Given the description of an element on the screen output the (x, y) to click on. 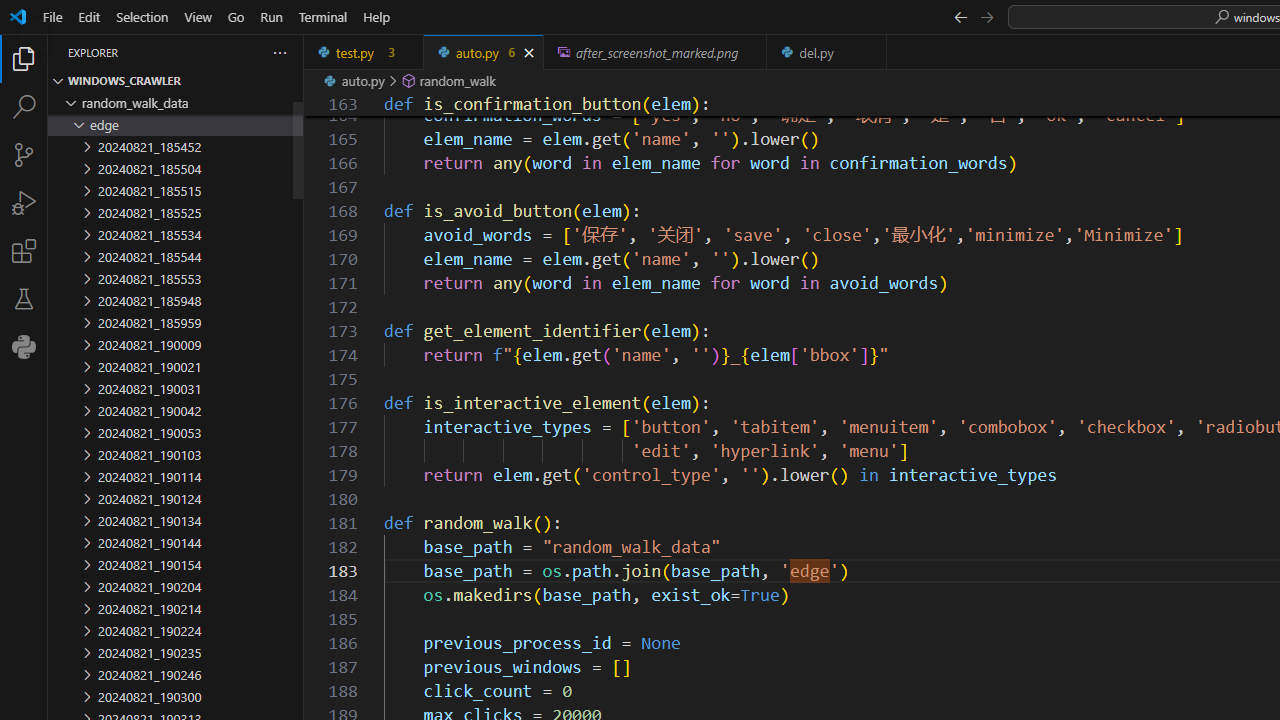
Source Control (Ctrl+Shift+G) (24, 155)
Python (24, 346)
Selection (141, 16)
del.py (827, 52)
auto.py (483, 52)
Views and More Actions... (279, 52)
Go Back (Alt+LeftArrow) (960, 16)
Go Forward (Alt+RightArrow) (986, 16)
Run and Debug (Ctrl+Shift+D) (24, 202)
Edit (89, 16)
Explorer actions (208, 52)
Run (271, 16)
